Given the description of an element on the screen output the (x, y) to click on. 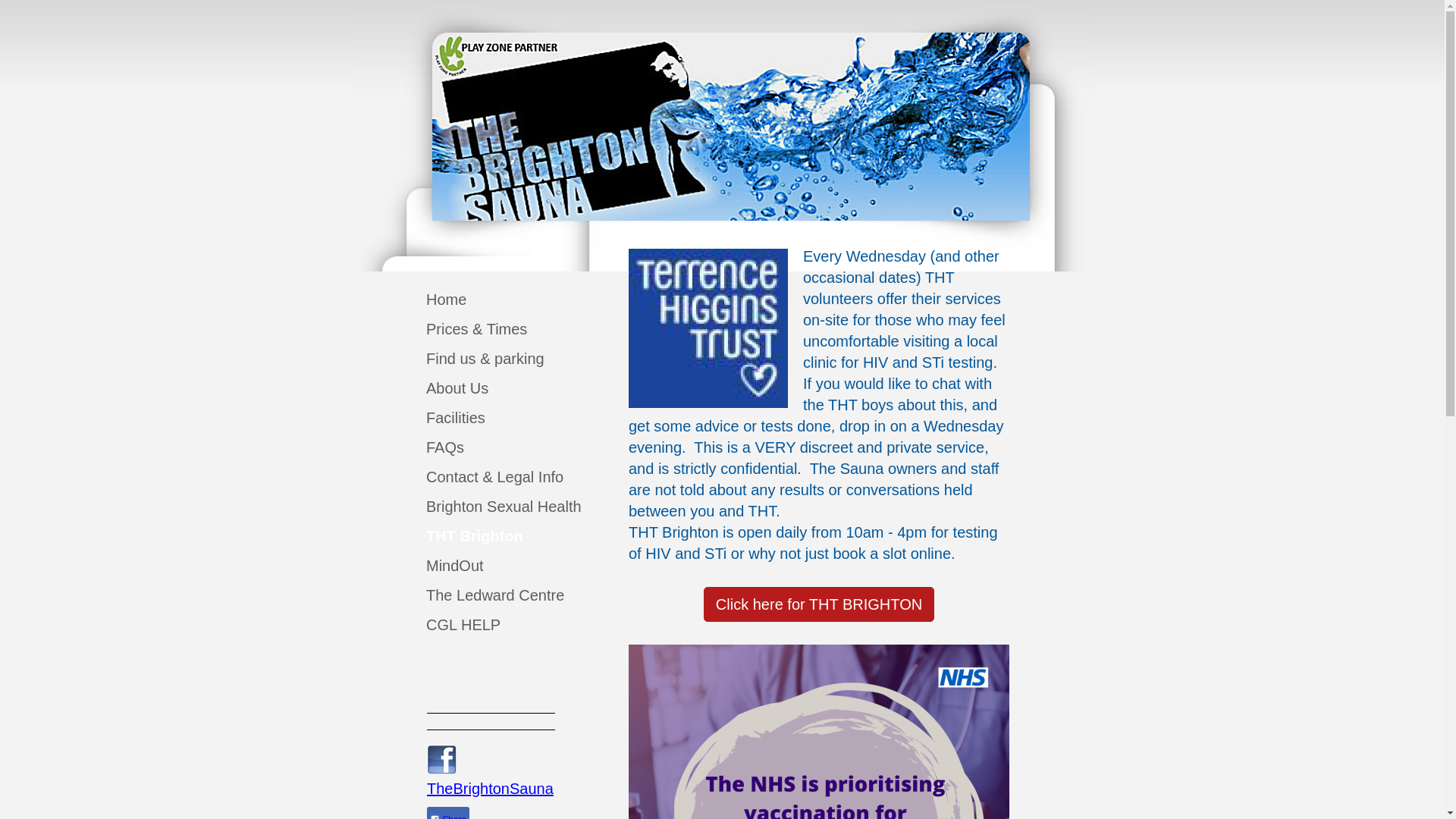
Brighton Sexual Health (484, 506)
About Us (484, 388)
CGL HELP (484, 624)
Home (484, 299)
THT Brighton (484, 536)
Share (447, 812)
Facilities (484, 418)
The Ledward Centre (484, 595)
TheBrightonSauna (489, 788)
FAQs (484, 447)
